Given the description of an element on the screen output the (x, y) to click on. 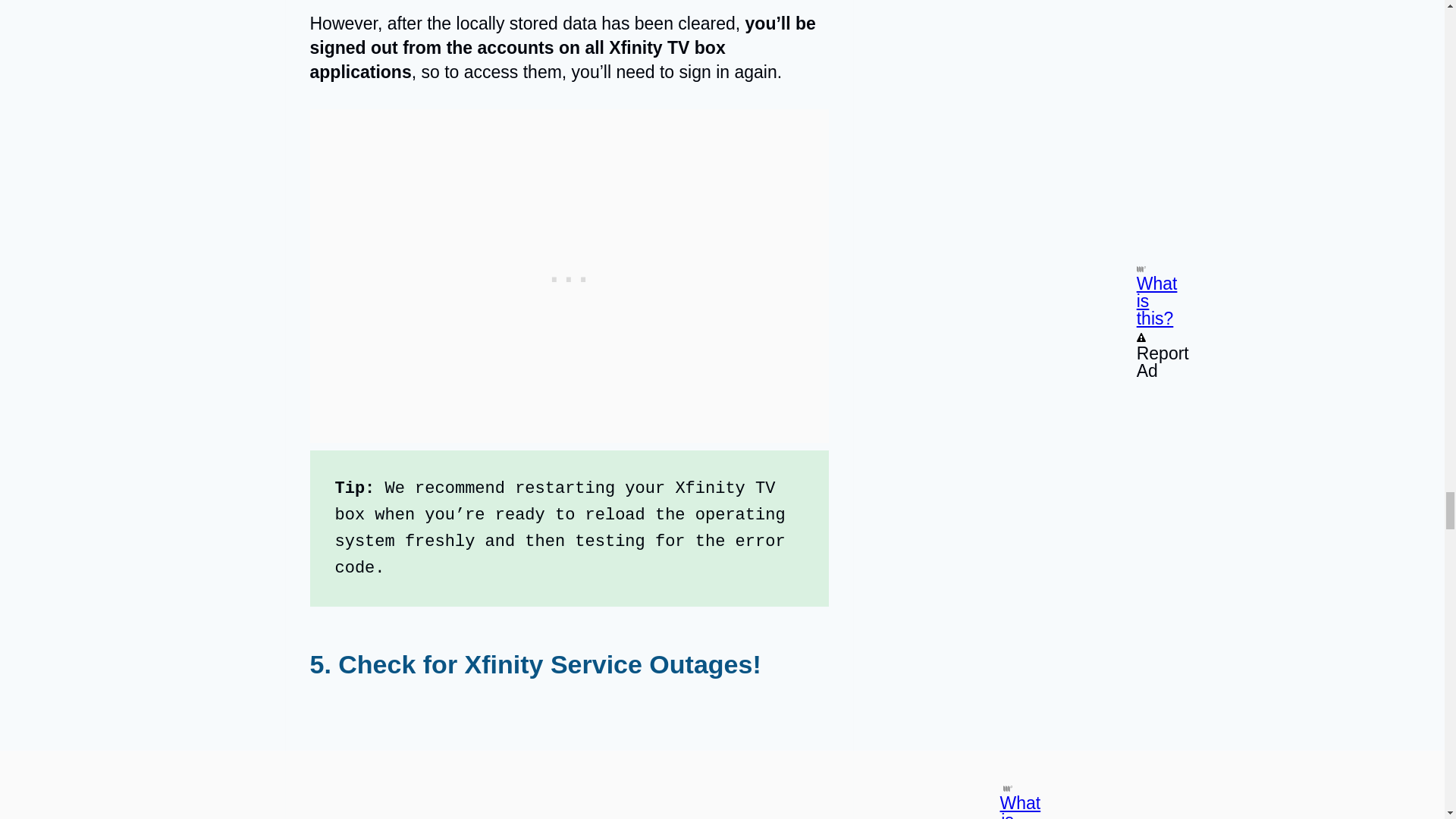
Xfinity Reference Code 3007 - Quick Fix Guide 7 (568, 757)
